Given the description of an element on the screen output the (x, y) to click on. 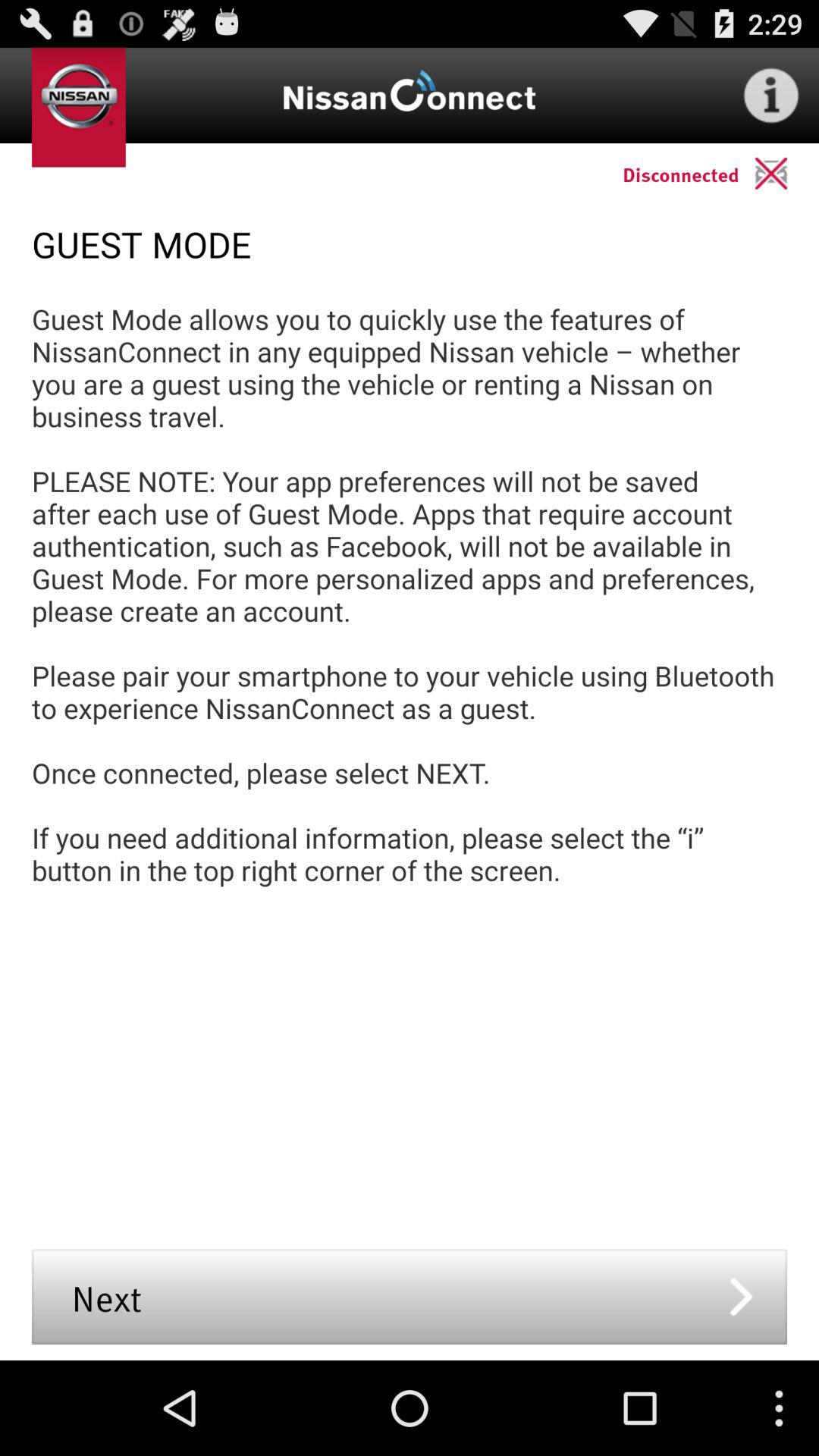
get more information (771, 95)
